Given the description of an element on the screen output the (x, y) to click on. 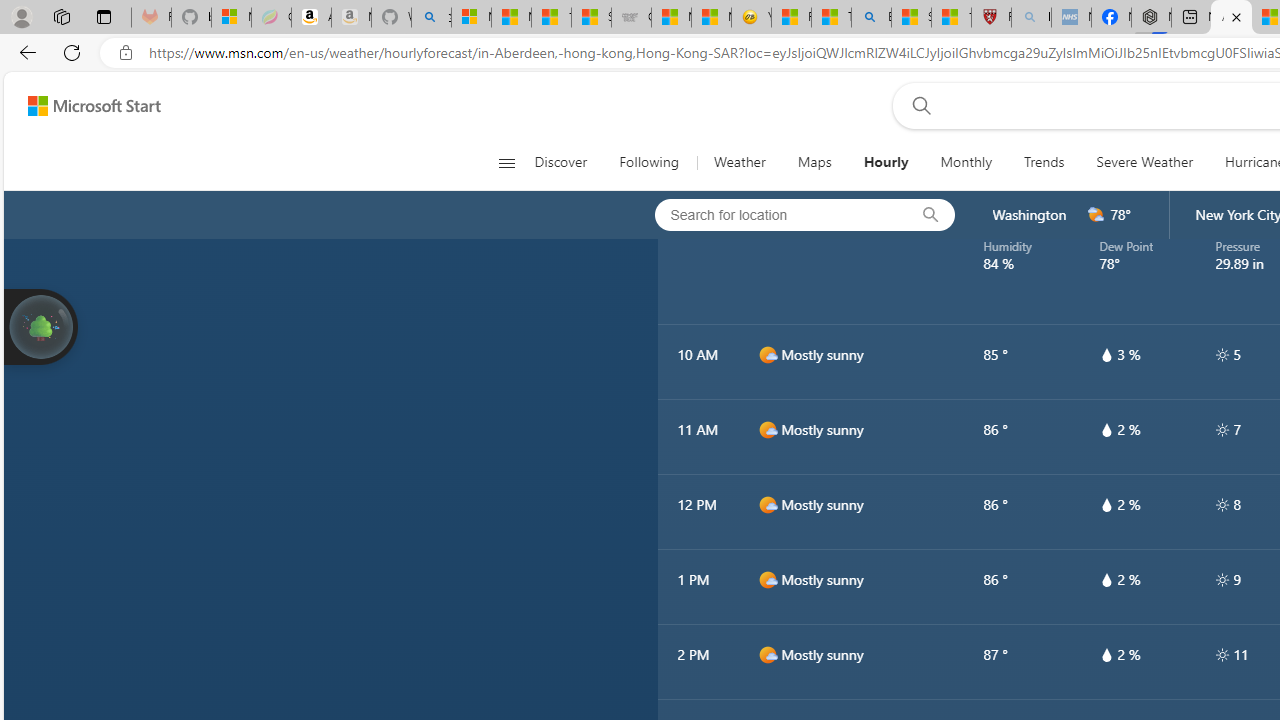
Severe Weather (1144, 162)
Trends (1044, 162)
